Given the description of an element on the screen output the (x, y) to click on. 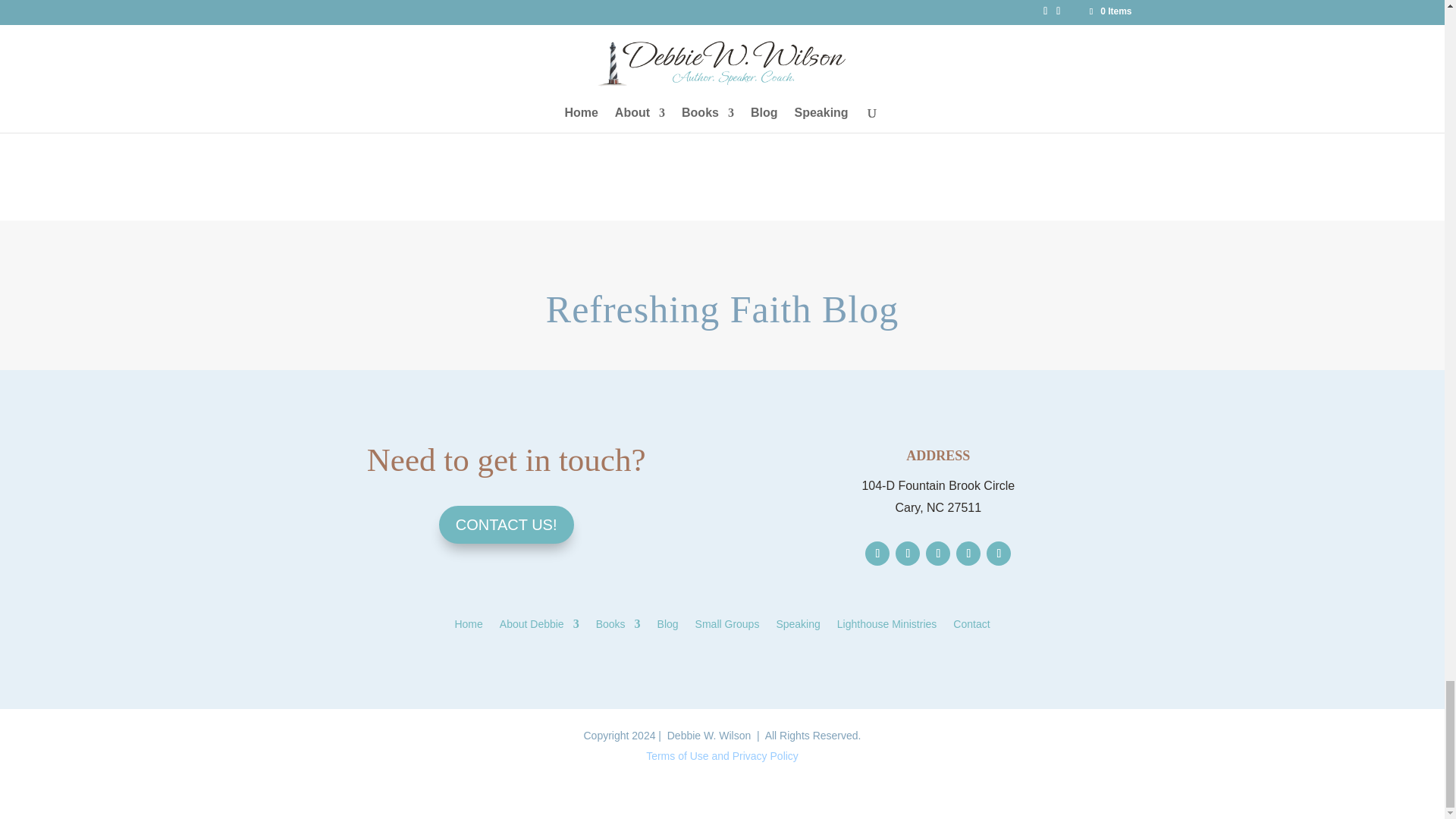
Follow on Instagram (938, 553)
Follow on Facebook (876, 553)
Follow on RSS (998, 553)
Follow on Pinterest (967, 553)
Follow on X (907, 553)
